Given the description of an element on the screen output the (x, y) to click on. 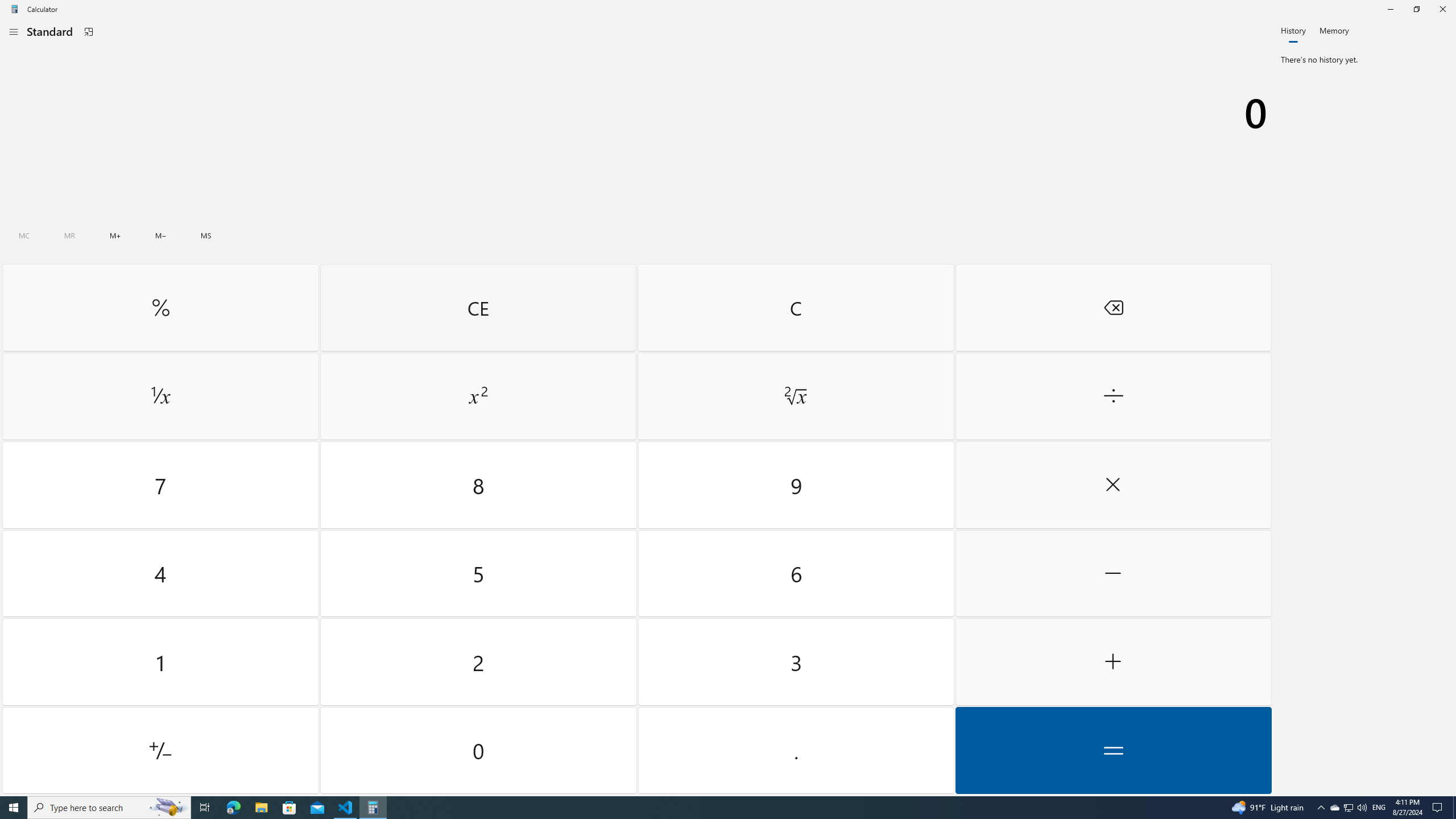
Clear all memory (24, 235)
Decimal separator (795, 749)
Memory store (206, 235)
Multiply by (1113, 485)
Clear entry (478, 307)
Six (795, 572)
